Given the description of an element on the screen output the (x, y) to click on. 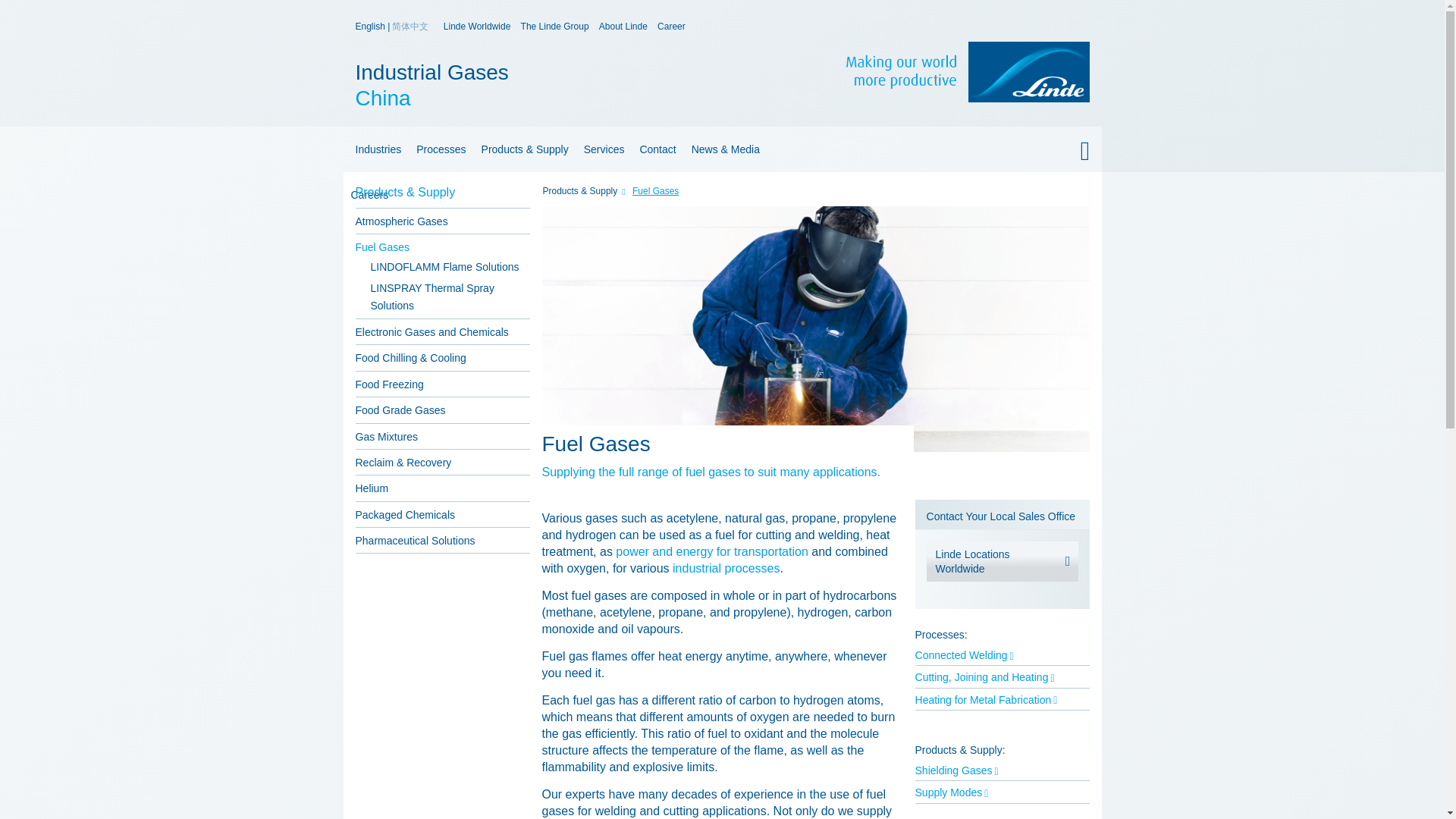
Career (671, 26)
Industries (721, 194)
Industries (574, 84)
About Linde (375, 148)
The Linde Group (622, 26)
Linde Worldwide (555, 26)
English  (477, 26)
